Given the description of an element on the screen output the (x, y) to click on. 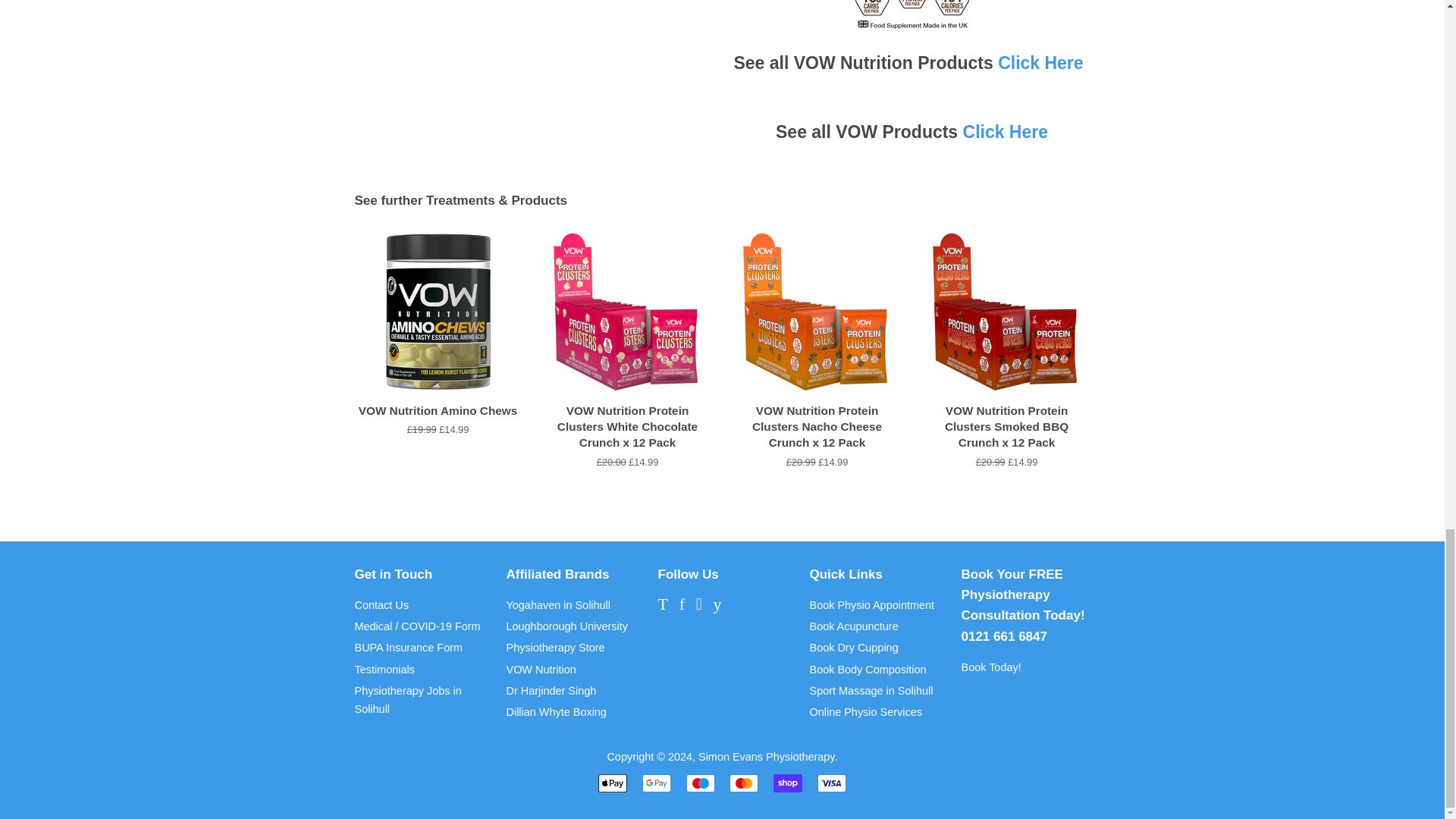
Google Pay (656, 782)
VOW Nutrition Supplements Protein, Amino, BCAA (1005, 131)
Mastercard (743, 782)
Visa (830, 782)
Simon Evans Physiotherapy on Instagram (698, 605)
Simon Evans Physiotherapy on Facebook (681, 605)
Shop Pay (787, 782)
VOW Nutrition Supplements Protein, Amino, BCAA (1040, 62)
Apple Pay (612, 782)
Simon Evans Physiotherapy on Twitter (663, 605)
Simon Evans Physiotherapy on YouTube (717, 605)
Maestro (699, 782)
